Given the description of an element on the screen output the (x, y) to click on. 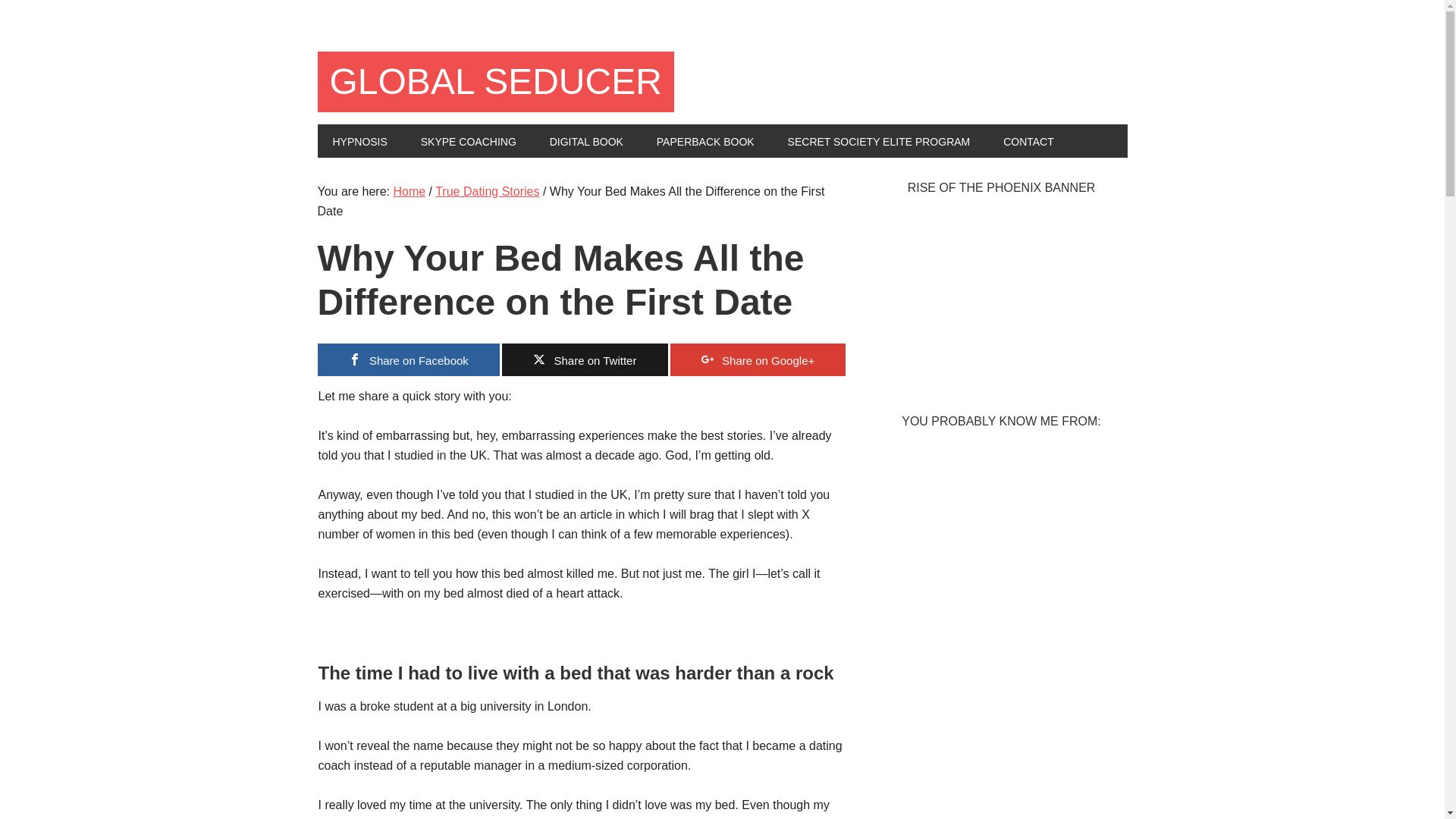
HYPNOSIS (359, 141)
DIGITAL BOOK (586, 141)
GLOBAL SEDUCER (494, 81)
CONTACT (1028, 141)
SKYPE COACHING (468, 141)
PAPERBACK BOOK (706, 141)
Rise of the Phoenix Banner (1000, 381)
SECRET SOCIETY ELITE PROGRAM (879, 141)
Home (409, 191)
Share on Facebook (408, 359)
Share on Twitter (585, 359)
True Dating Stories (486, 191)
